Given the description of an element on the screen output the (x, y) to click on. 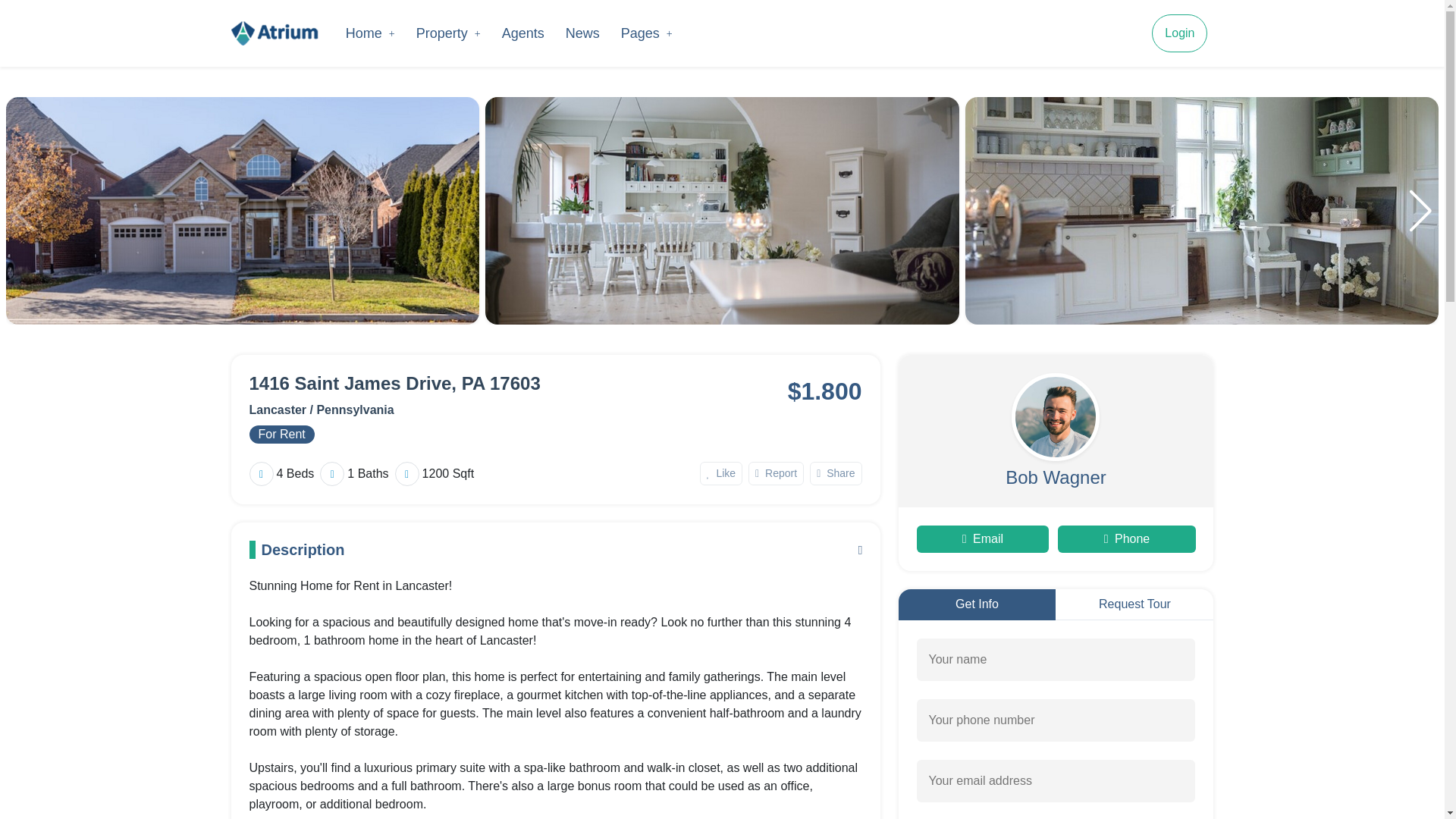
News (582, 32)
Description (554, 549)
Home (370, 32)
Share (835, 473)
Property (448, 32)
Like (721, 473)
Report (775, 473)
Agents (523, 32)
Login (1179, 33)
Pages (646, 32)
